Given the description of an element on the screen output the (x, y) to click on. 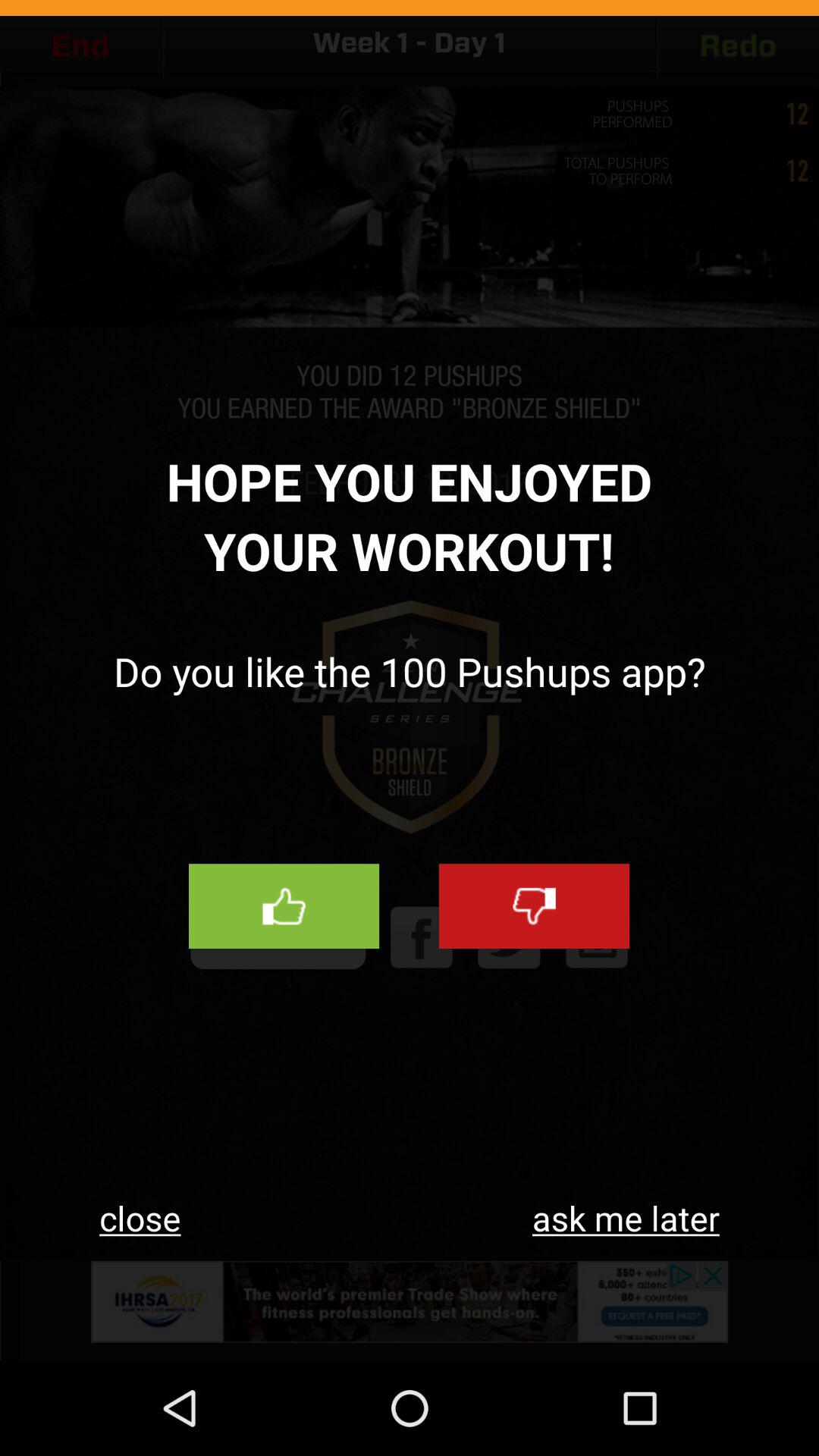
dislike button (534, 905)
